Given the description of an element on the screen output the (x, y) to click on. 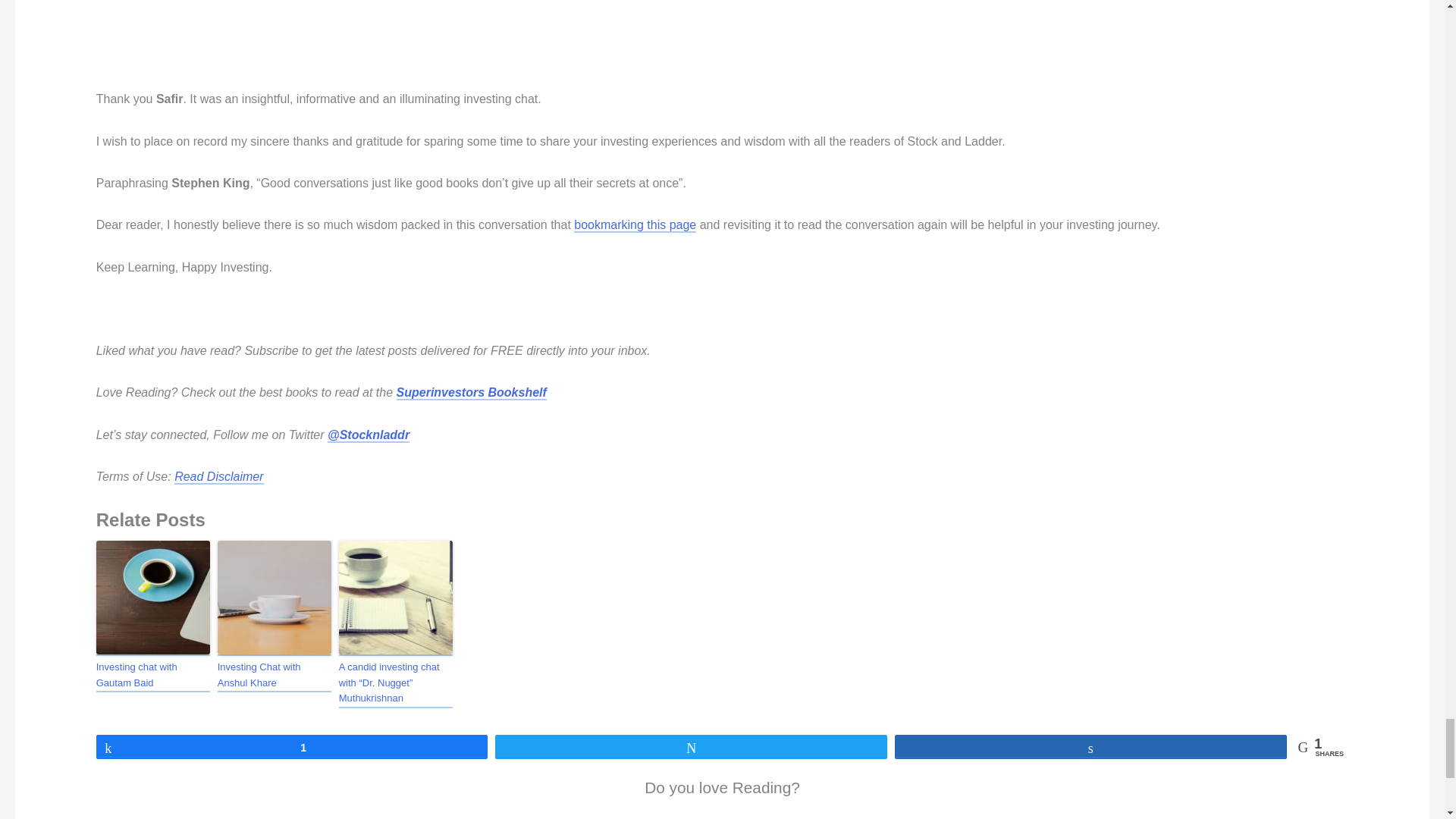
Superinvestors Bookshelf (471, 392)
Investing chat with Gautam Baid (152, 676)
bookmarking this page (634, 225)
Read Disclaimer (218, 477)
